Given the description of an element on the screen output the (x, y) to click on. 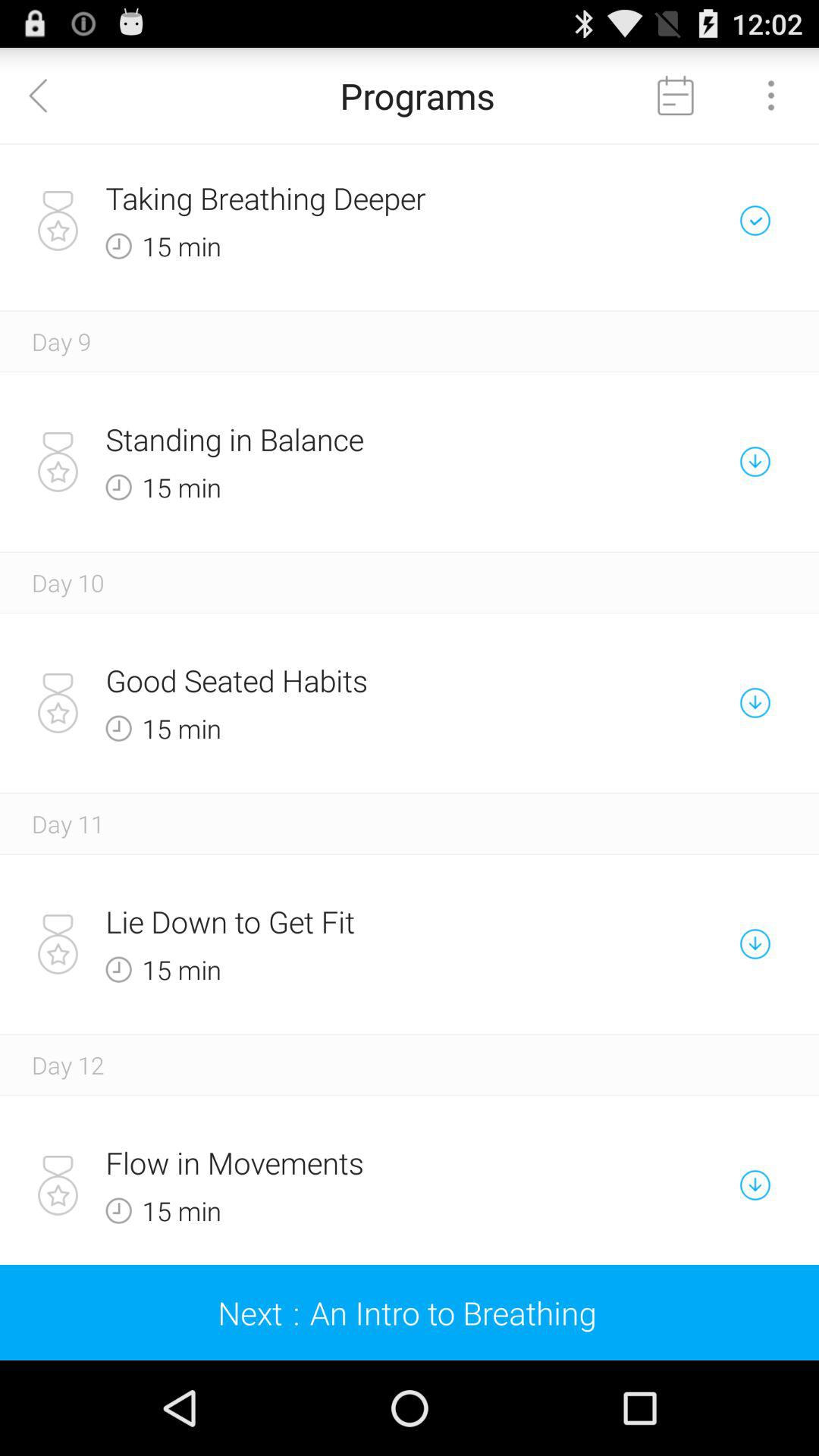
scroll until the day 10 icon (67, 582)
